Given the description of an element on the screen output the (x, y) to click on. 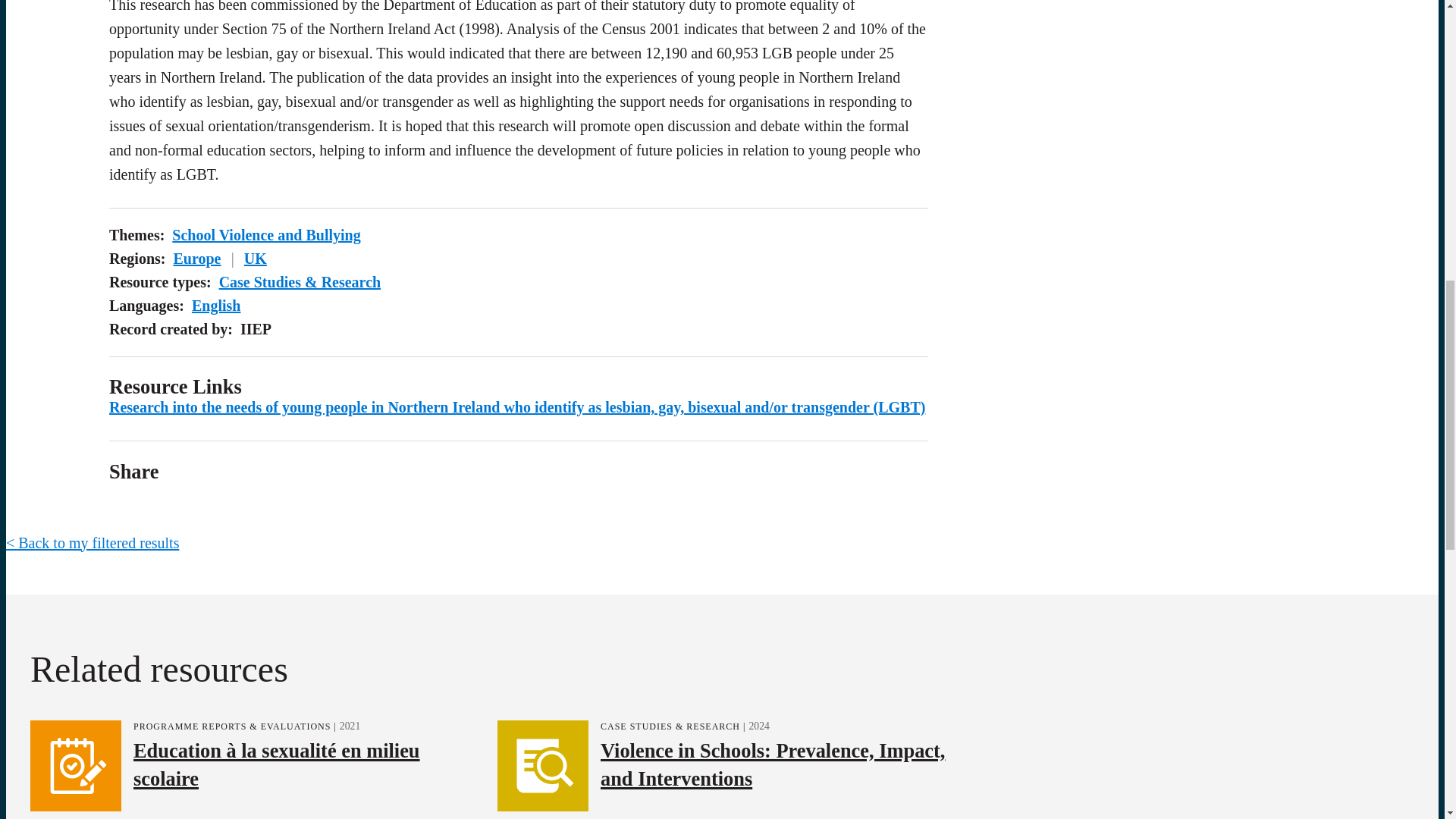
Violence in Schools: Prevalence, Impact, and Interventions (771, 763)
Europe (197, 258)
English (216, 305)
UK (255, 258)
School Violence and Bullying (265, 234)
